Given the description of an element on the screen output the (x, y) to click on. 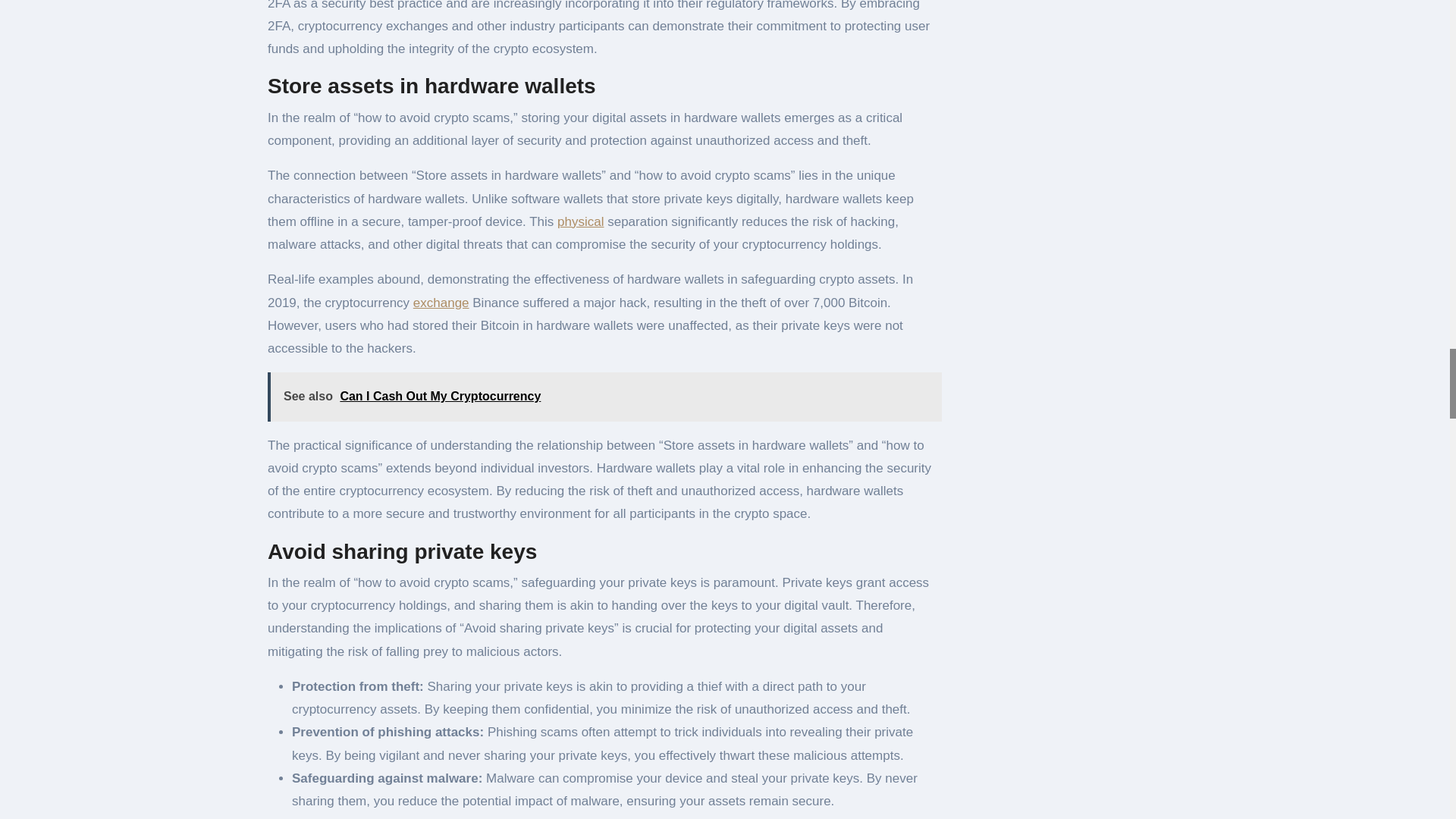
Posts tagged with physical (580, 221)
Posts tagged with exchange (440, 302)
